Given the description of an element on the screen output the (x, y) to click on. 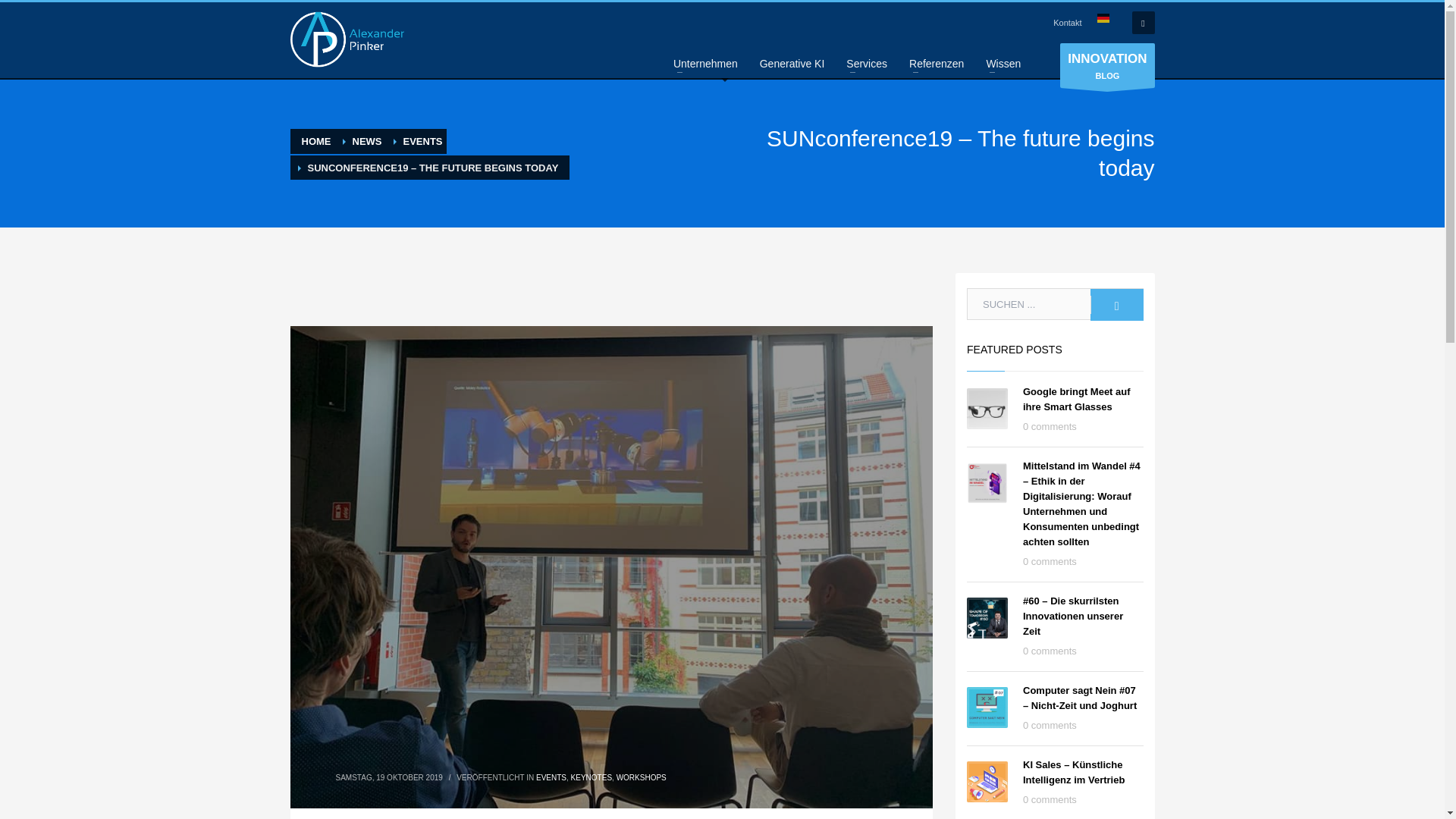
Services (866, 63)
Generative KI (792, 63)
News (366, 141)
Unternehmen (704, 63)
Referenzen (935, 63)
Innovation-Profiling (346, 40)
Kontakt (1066, 22)
Google bringt Meet auf ihre Smart Glasses (1077, 398)
German (1102, 17)
